Given the description of an element on the screen output the (x, y) to click on. 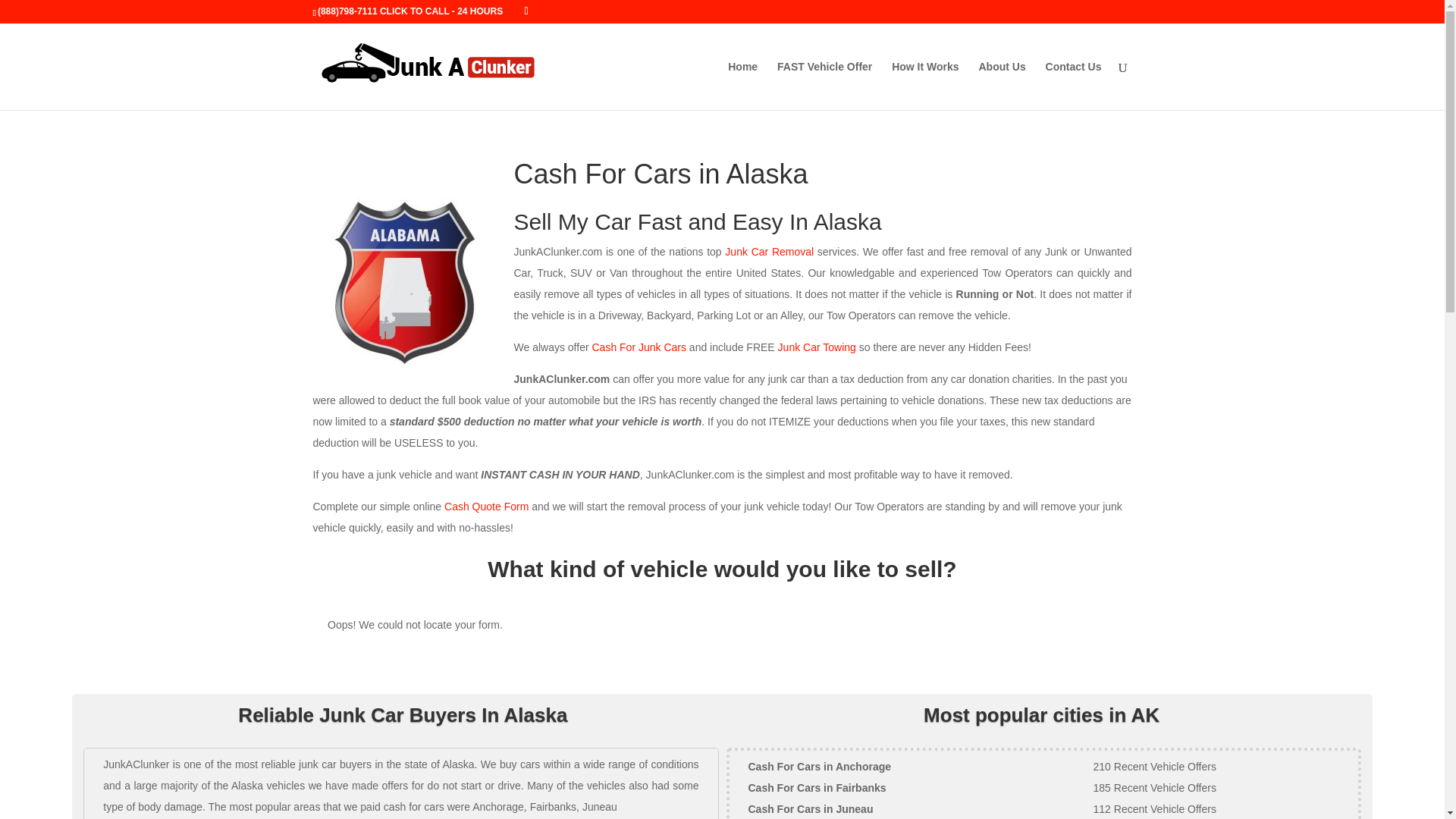
Contact Us (1073, 85)
About Us (1001, 85)
Junk Car Removal (769, 251)
FAST Vehicle Offer (824, 85)
How It Works (924, 85)
Cash Quote Form (486, 506)
Junk Car Towing (816, 346)
Cash For Junk Cars (638, 346)
